Given the description of an element on the screen output the (x, y) to click on. 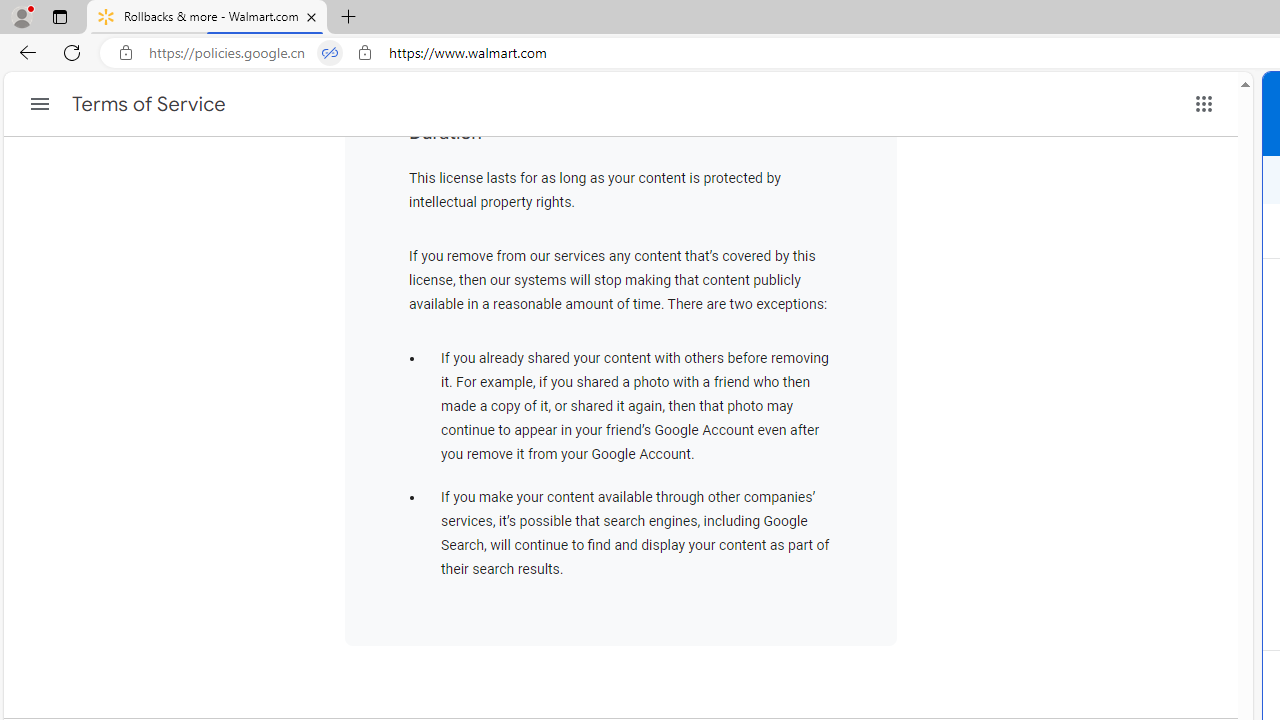
Refresh (72, 52)
Tabs in split screen (330, 53)
Tab actions menu (59, 16)
Close tab (311, 16)
Rollbacks & more - Walmart.com (207, 17)
Back (24, 52)
View site information (365, 53)
New Tab (349, 17)
